Given the description of an element on the screen output the (x, y) to click on. 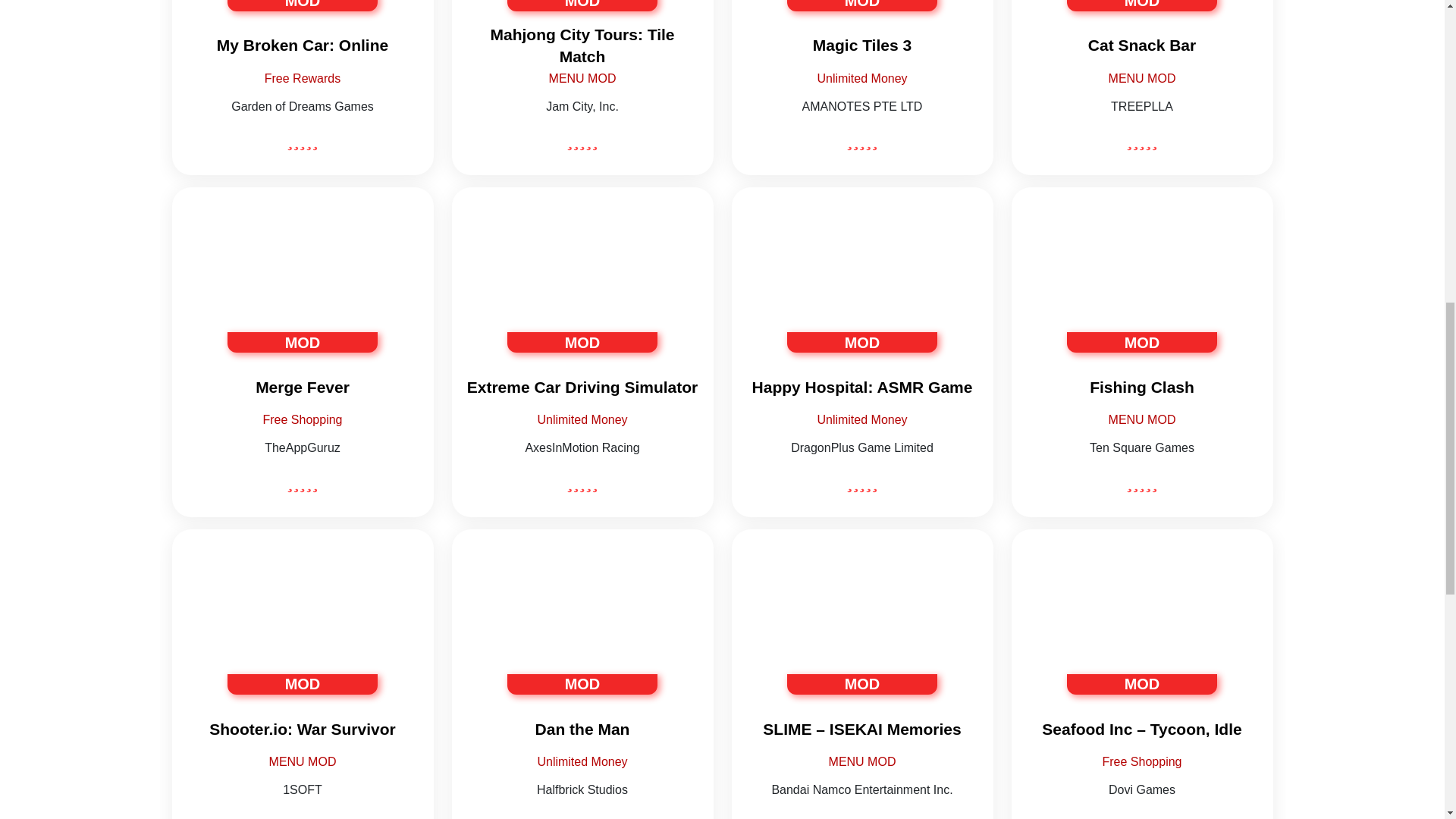
Merge Fever (301, 386)
My Broken Car: Online (301, 45)
Fishing Clash (1141, 386)
Dan the Man (582, 728)
Shooter.io: War Survivor (301, 728)
Extreme Car Driving Simulator (582, 386)
Magic Tiles 3 (860, 45)
Cat Snack Bar (1141, 45)
Mahjong City Tours: Tile Match (582, 45)
Happy Hospital: ASMR Game (860, 386)
